Given the description of an element on the screen output the (x, y) to click on. 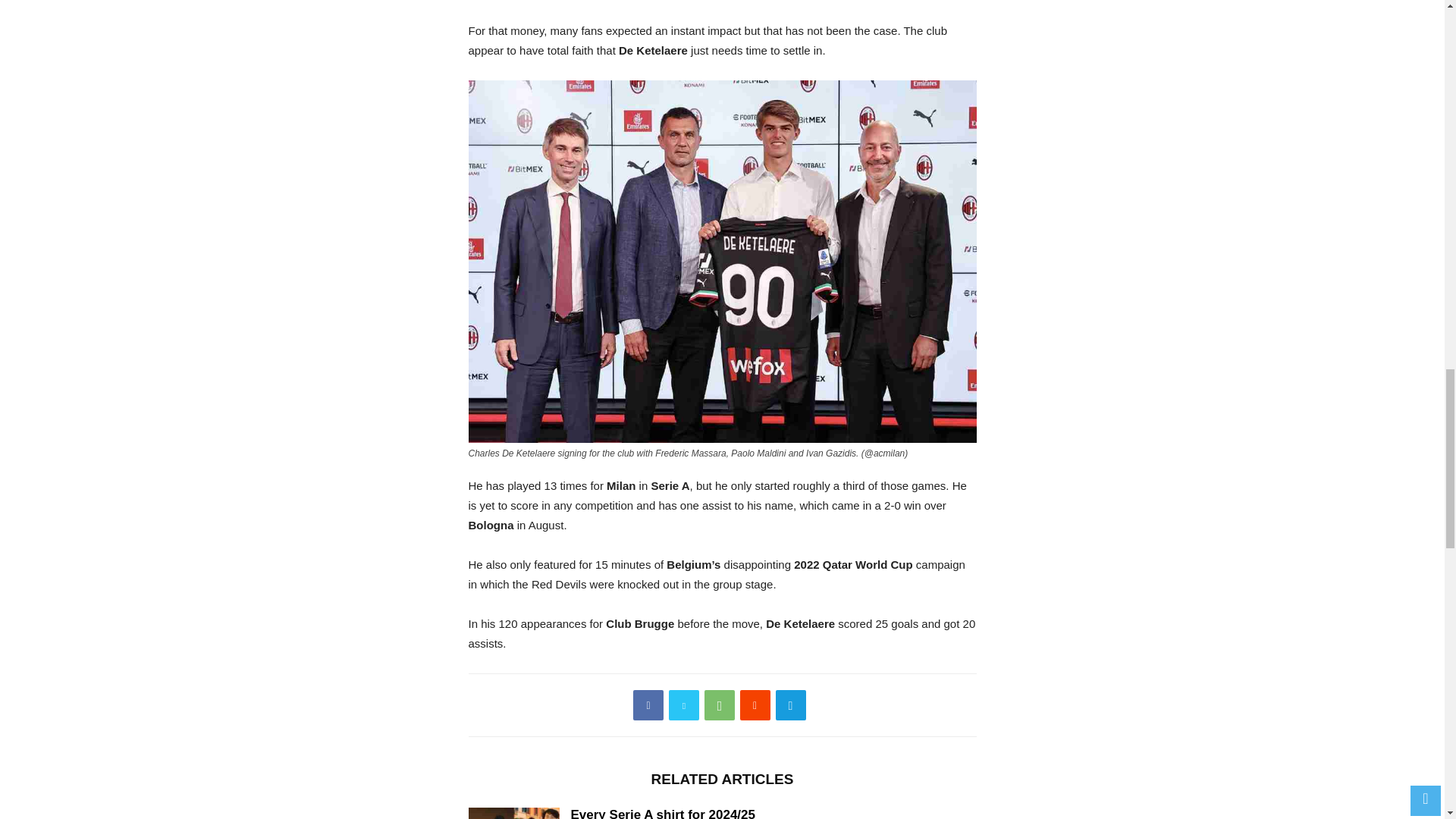
Twitter (683, 705)
Facebook (648, 705)
Telegram (791, 705)
ReddIt (754, 705)
WhatsApp (719, 705)
